Given the description of an element on the screen output the (x, y) to click on. 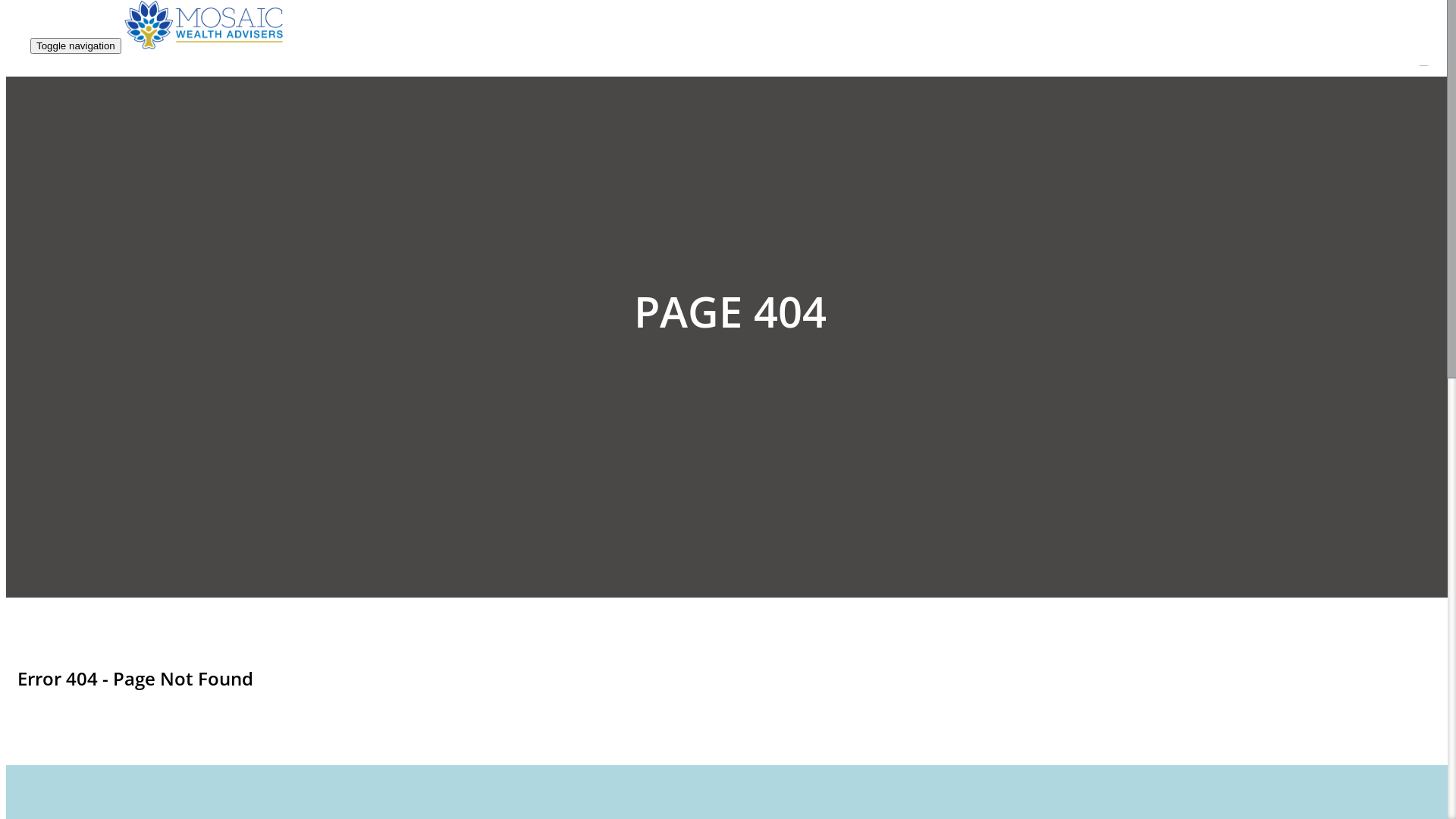
Resources Element type: text (1118, 342)
What to expect Element type: text (1130, 307)
Contact us Element type: text (1119, 395)
Toggle navigation Element type: text (75, 45)
About us Element type: text (1114, 325)
Financial Planning Element type: text (1139, 80)
